Given the description of an element on the screen output the (x, y) to click on. 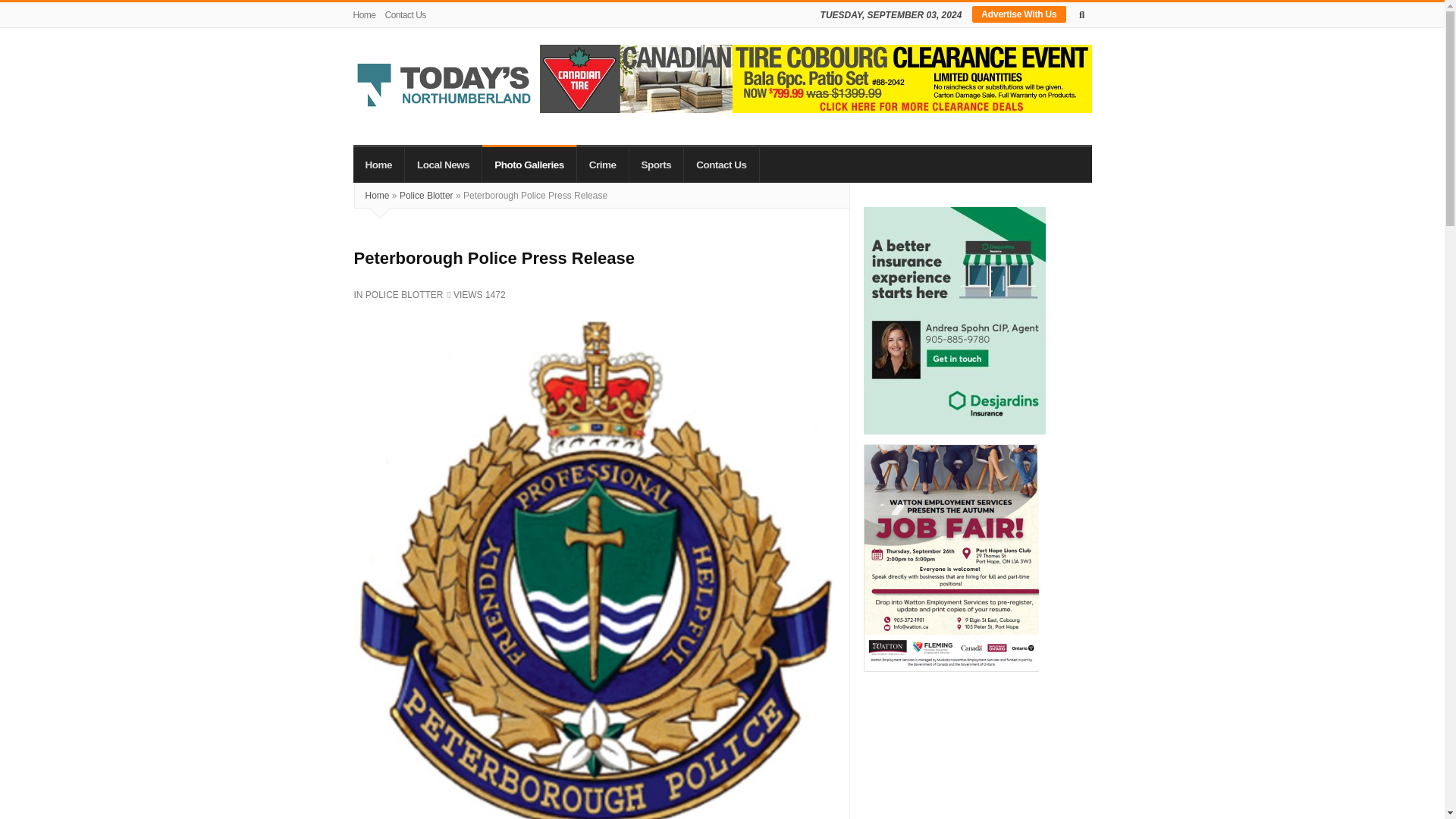
Home (366, 14)
Advertise With Us (1018, 13)
Contact Us (405, 14)
Photo Galleries (528, 163)
Home (379, 163)
Local News (442, 163)
